Given the description of an element on the screen output the (x, y) to click on. 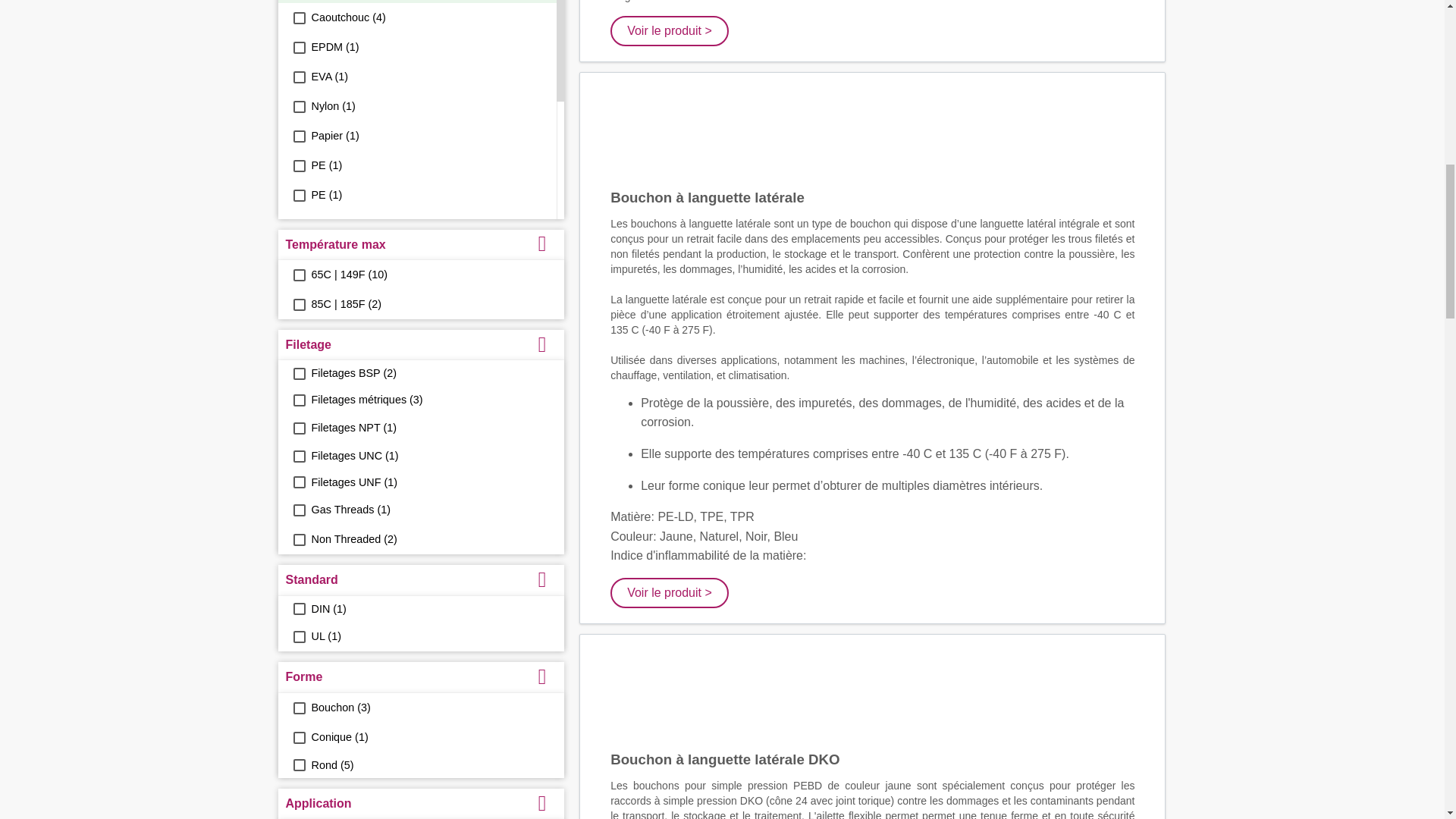
PE (298, 195)
Caoutchouc (298, 18)
EVA (298, 77)
Polyamide (298, 284)
Polyamide (298, 254)
Plastique (298, 224)
PE (298, 165)
Nylon (298, 106)
EPDM (298, 47)
Papier (298, 136)
